Given the description of an element on the screen output the (x, y) to click on. 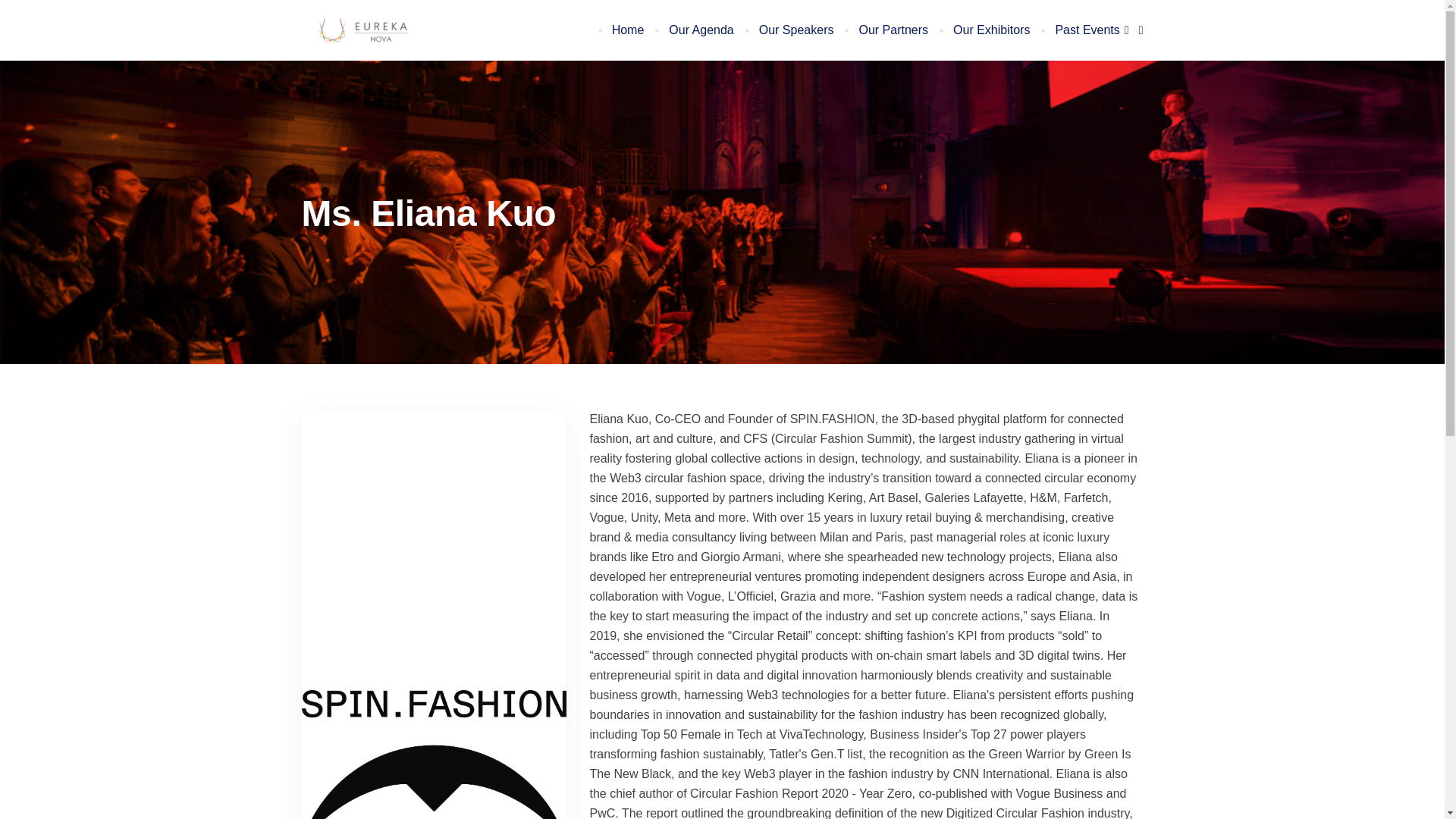
Our Partners (891, 30)
Past Events (1091, 30)
Our Agenda (699, 30)
Our Exhibitors (990, 30)
Home (627, 30)
Our Speakers (795, 30)
